Given the description of an element on the screen output the (x, y) to click on. 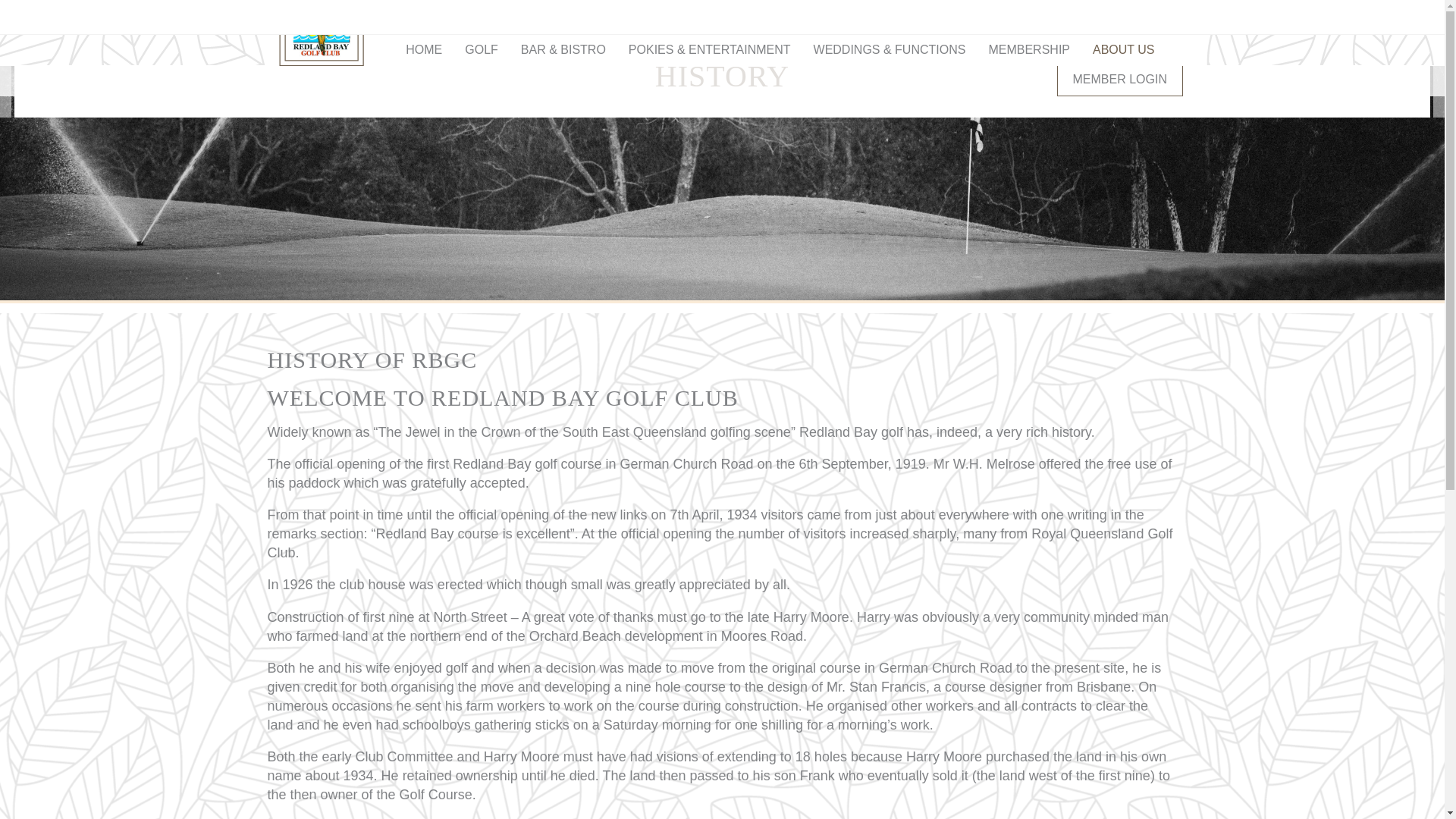
GOLF (480, 50)
MEMBERSHIP (1028, 50)
HOME (423, 50)
ABOUT US (1123, 50)
MEMBER LOGIN (1120, 78)
